Given the description of an element on the screen output the (x, y) to click on. 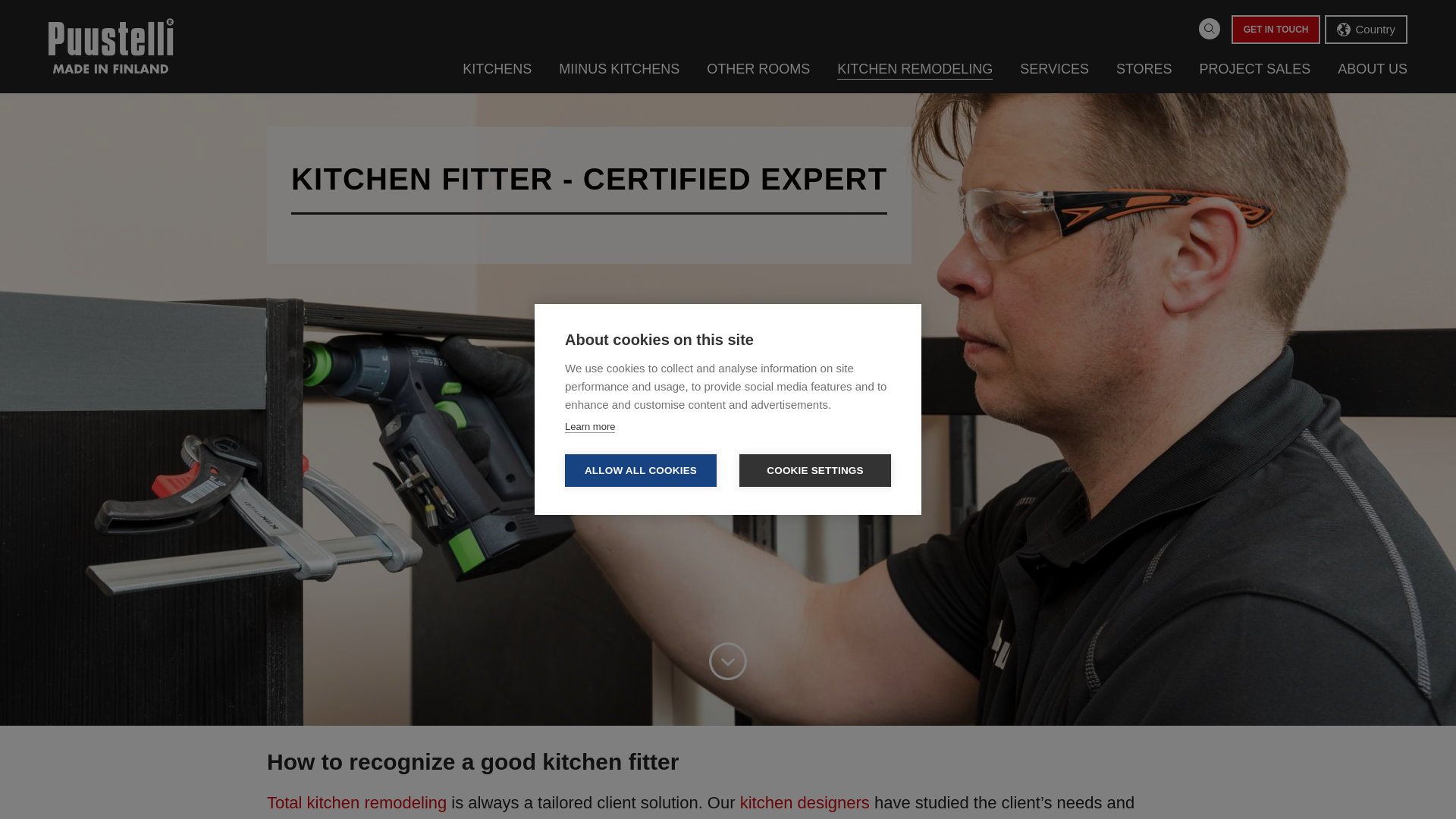
Search (1209, 28)
GET IN TOUCH (1275, 29)
KITCHENS (497, 68)
Home (110, 45)
Country (1365, 29)
